Given the description of an element on the screen output the (x, y) to click on. 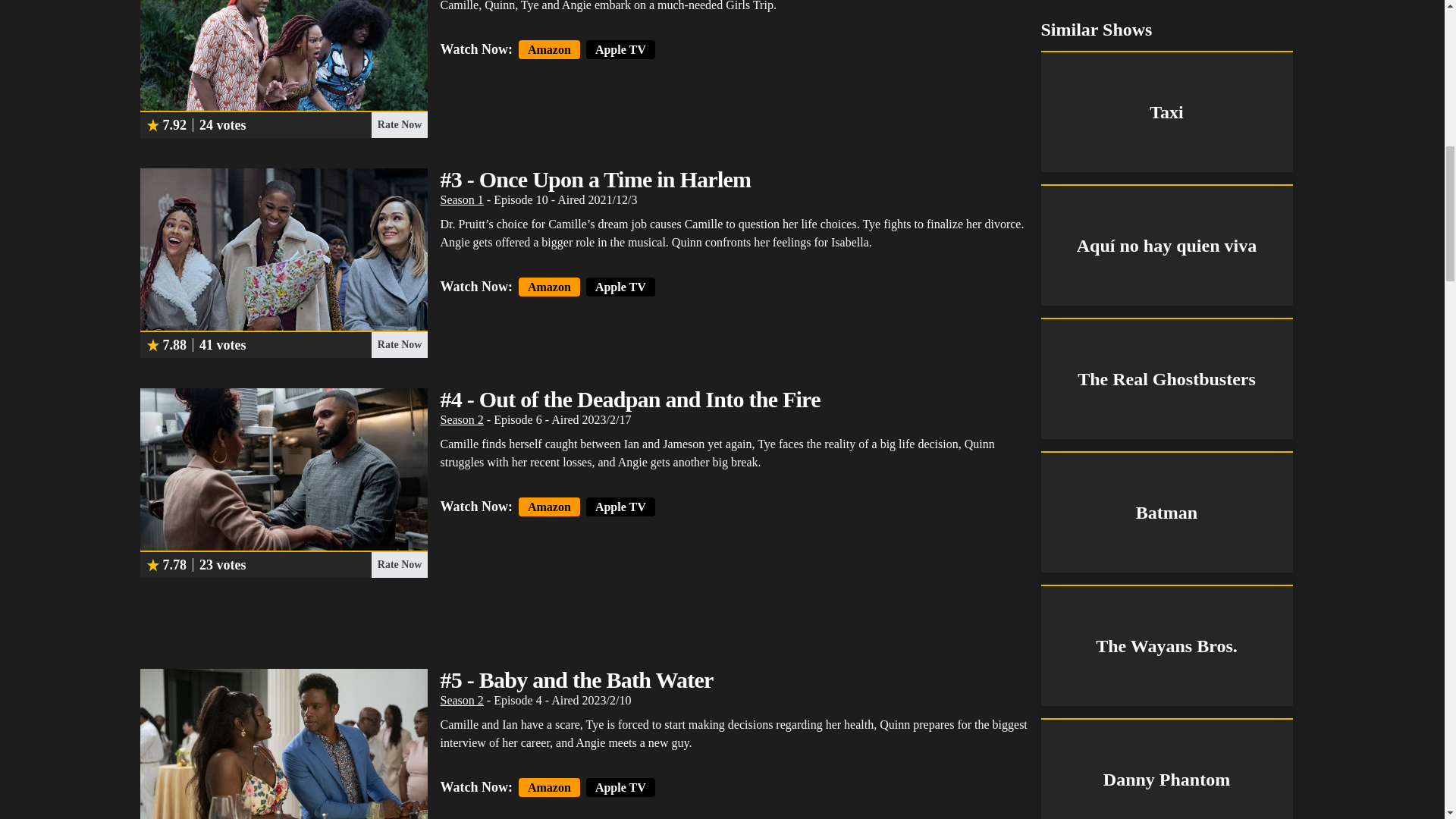
Amazon (548, 506)
Rate Now (399, 565)
Rate Now (399, 344)
Apple TV (620, 286)
Amazon (548, 787)
Rate Now (399, 125)
Season 2 (461, 699)
Season 2 (461, 419)
Apple TV (620, 506)
Apple TV (620, 49)
Season 1 (461, 199)
Amazon (548, 286)
Amazon (548, 49)
Apple TV (620, 787)
